Given the description of an element on the screen output the (x, y) to click on. 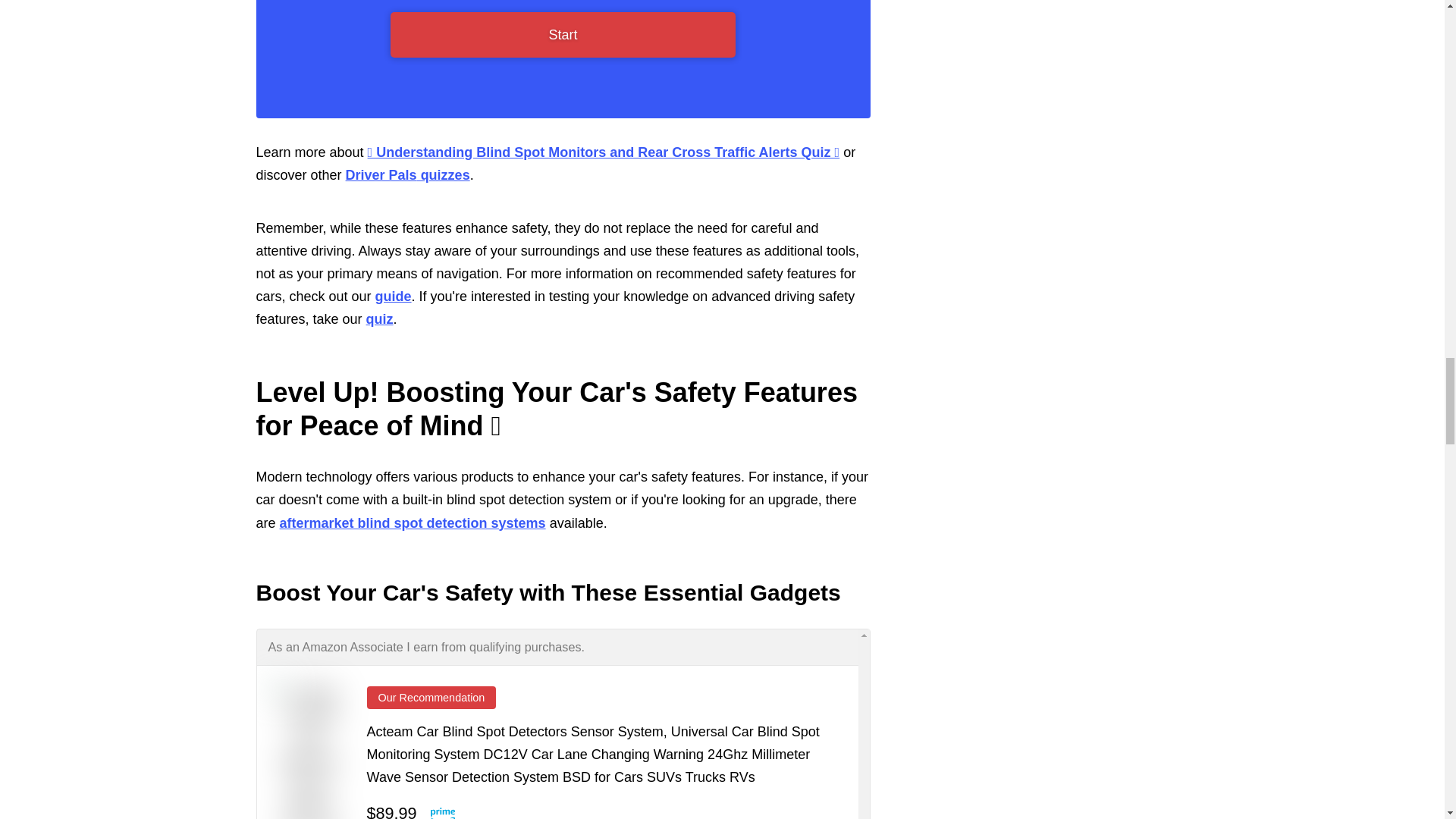
Advanced Driving Safety Features Quiz (379, 319)
Recommended Safety Features for Cars (393, 296)
aftermarket blind spot detection systems (412, 522)
